Given the description of an element on the screen output the (x, y) to click on. 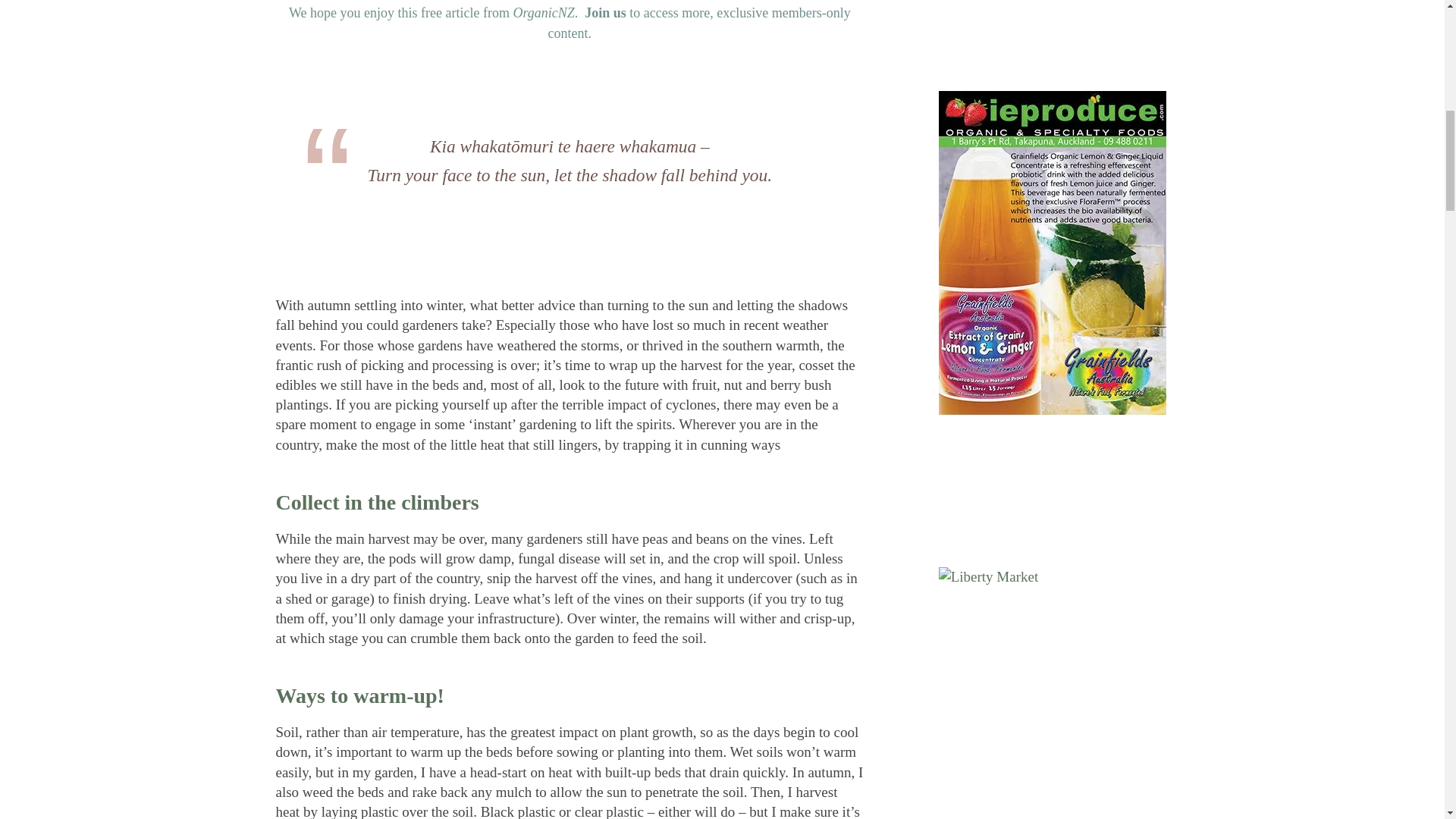
Join us (605, 12)
